Given the description of an element on the screen output the (x, y) to click on. 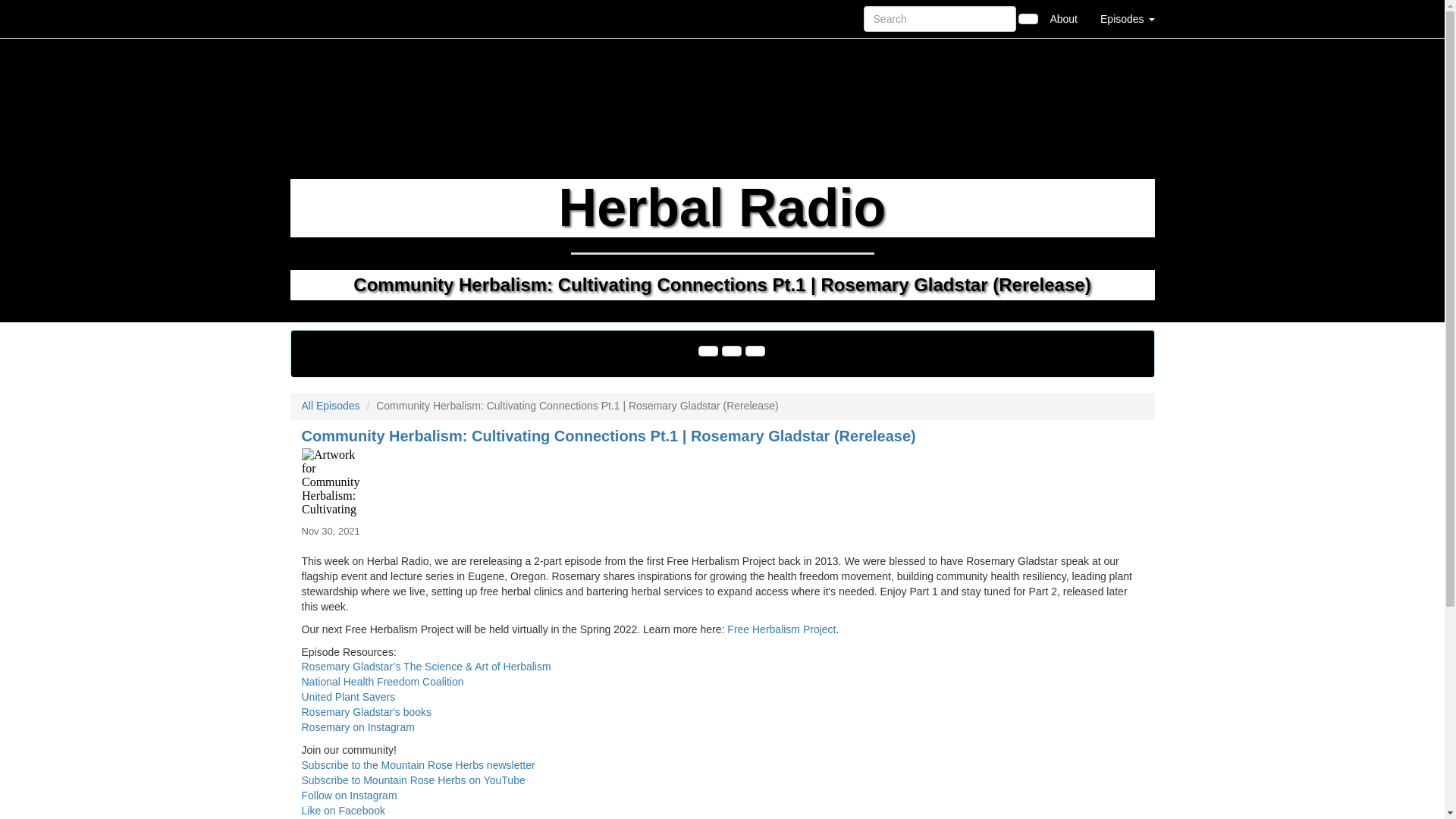
About (1063, 18)
Episodes (1127, 18)
Home Page (320, 18)
